Given the description of an element on the screen output the (x, y) to click on. 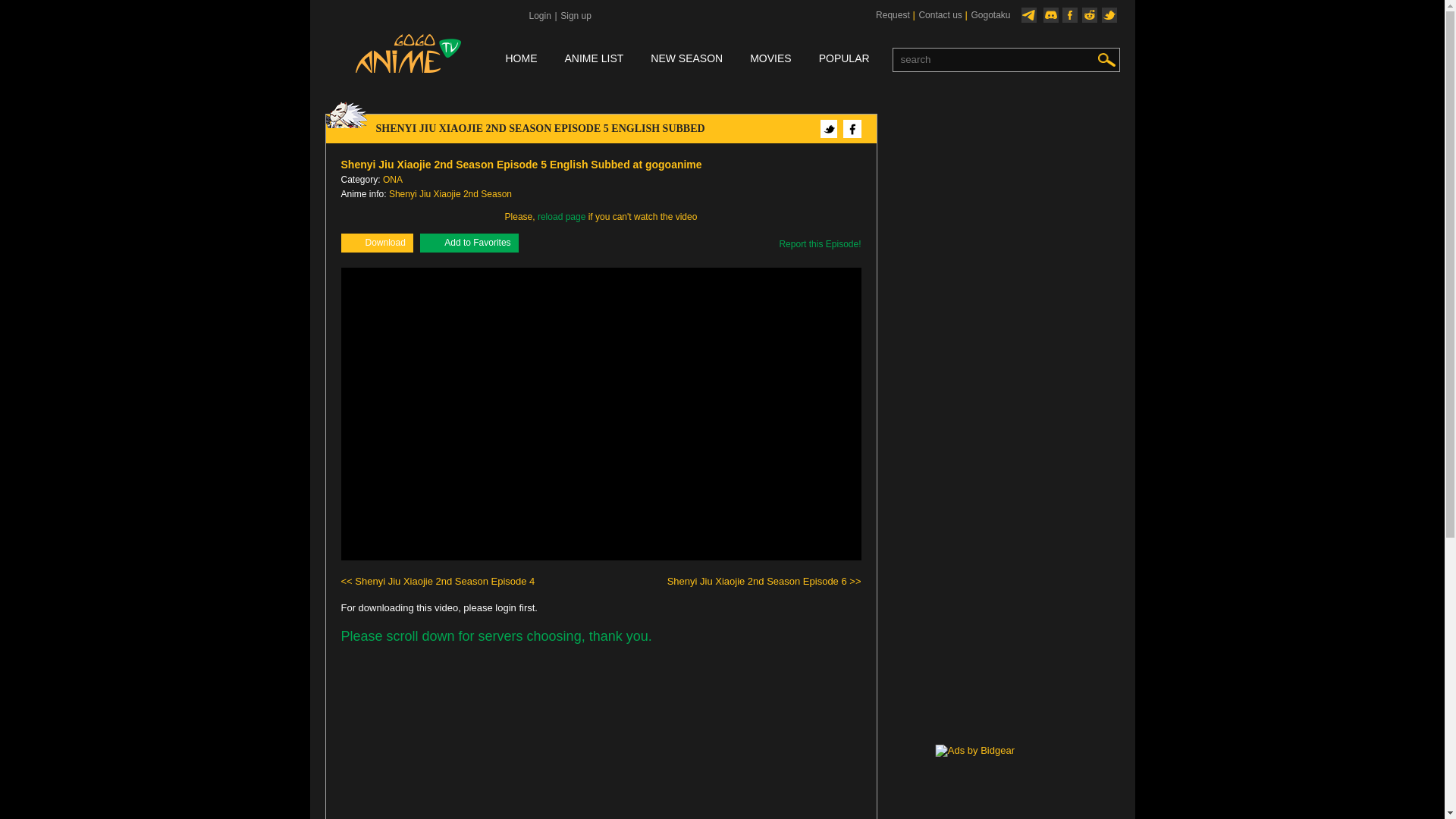
MOVIES (769, 59)
login (538, 15)
Request (892, 14)
Gogotaku (989, 14)
Login (538, 15)
New season (686, 59)
Anime list (593, 59)
Sign up (575, 15)
Popular (843, 59)
HOME (521, 59)
Contact us (938, 14)
NEW SEASON (686, 59)
Movies (769, 59)
ANIME LIST (593, 59)
Sign up (575, 15)
